Given the description of an element on the screen output the (x, y) to click on. 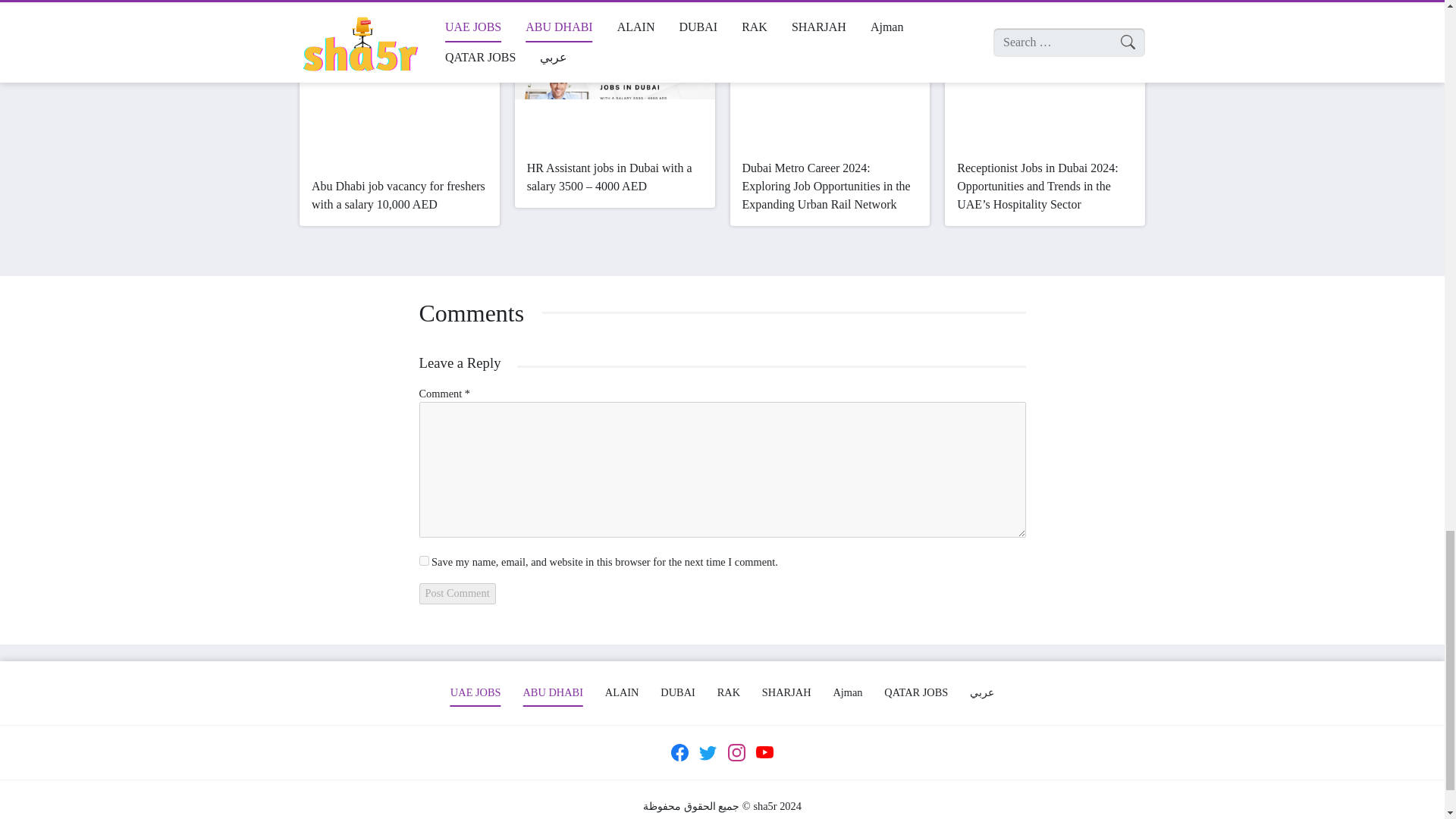
yes (423, 560)
Post Comment (457, 593)
